Given the description of an element on the screen output the (x, y) to click on. 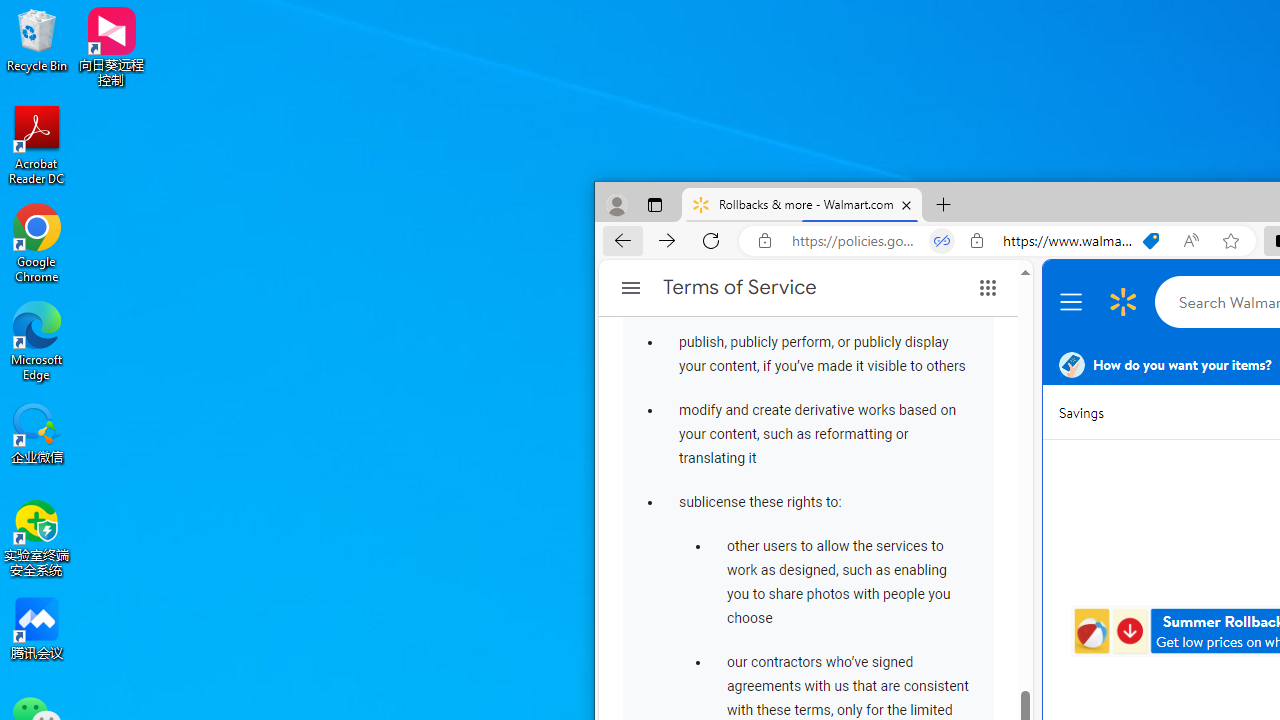
Rollbacks & more - Walmart.com (802, 205)
Acrobat Reader DC (37, 144)
Menu (1074, 301)
This site has coupons! Shopping in Microsoft Edge, 7 (1151, 241)
Microsoft Edge (37, 340)
Walmart Homepage (1123, 301)
Savings (1080, 412)
